Given the description of an element on the screen output the (x, y) to click on. 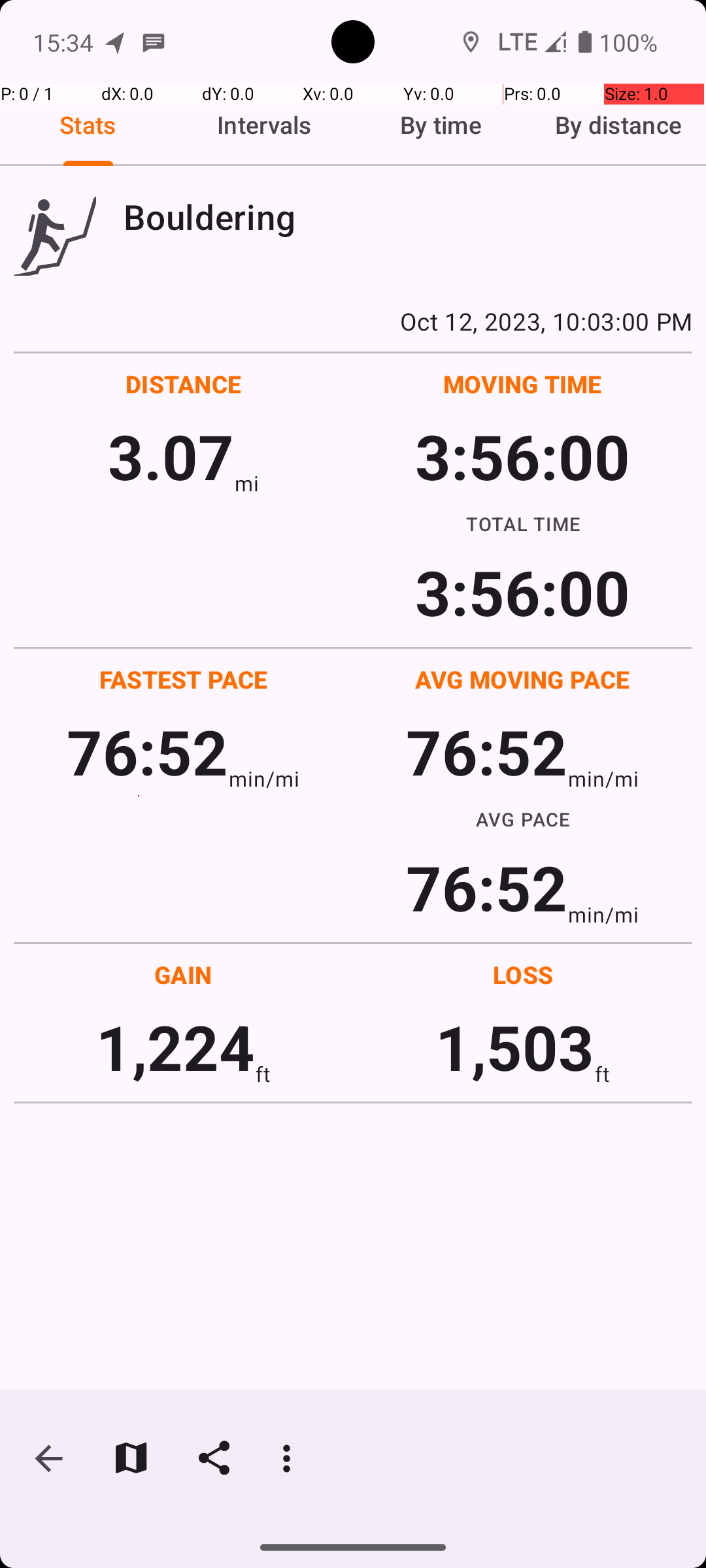
Bouldering Element type: android.widget.TextView (407, 216)
Oct 12, 2023, 10:03:00 PM Element type: android.widget.TextView (352, 320)
3.07 Element type: android.widget.TextView (170, 455)
3:56:00 Element type: android.widget.TextView (522, 455)
76:52 Element type: android.widget.TextView (147, 750)
1,224 Element type: android.widget.TextView (175, 1045)
1,503 Element type: android.widget.TextView (514, 1045)
